Given the description of an element on the screen output the (x, y) to click on. 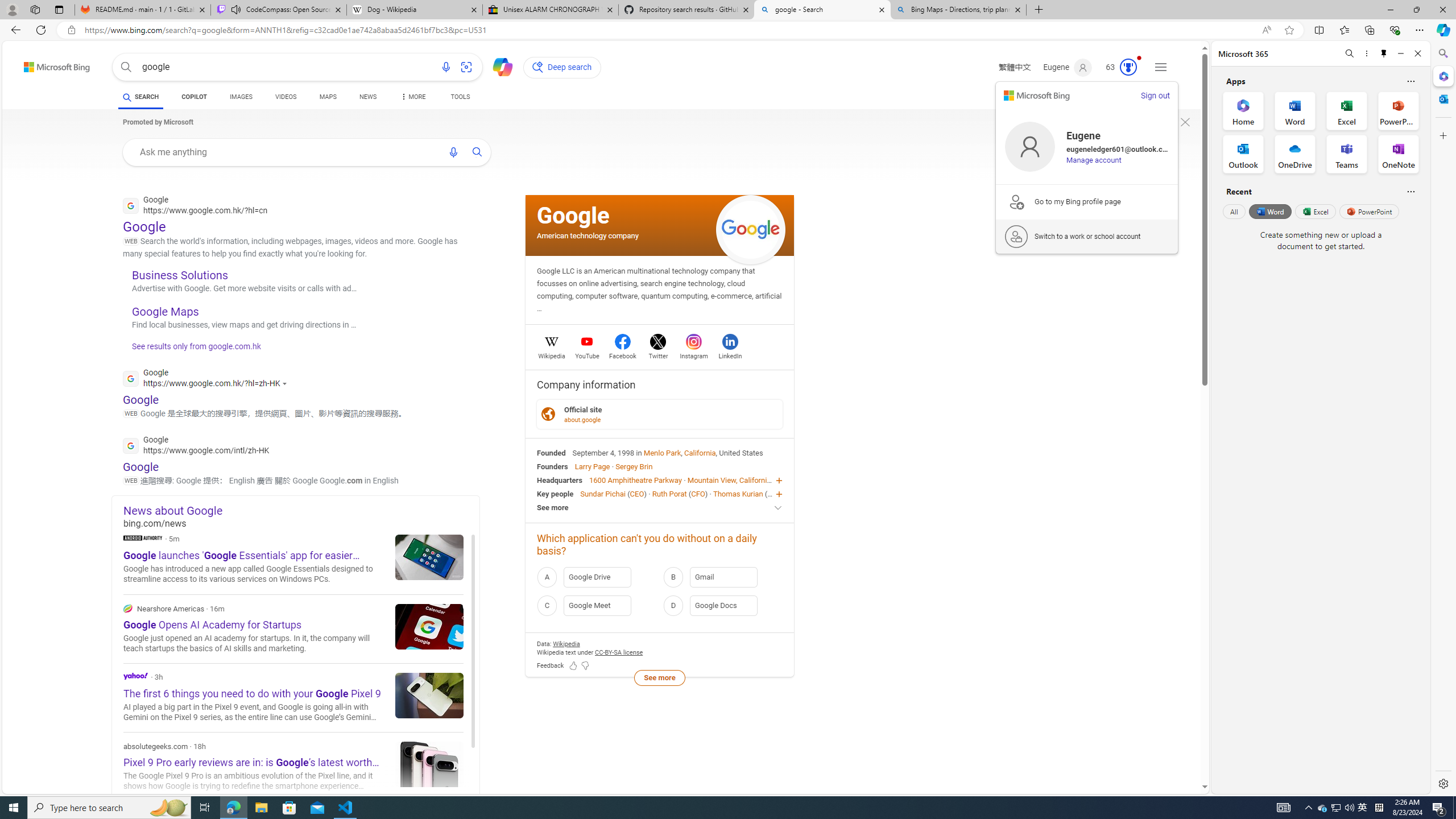
OneDrive Office App (1295, 154)
Key people (555, 492)
NEWS (367, 98)
Nearshore Americas (293, 628)
D Google Docs (722, 605)
Founded (551, 452)
B Gmail (722, 576)
